Given the description of an element on the screen output the (x, y) to click on. 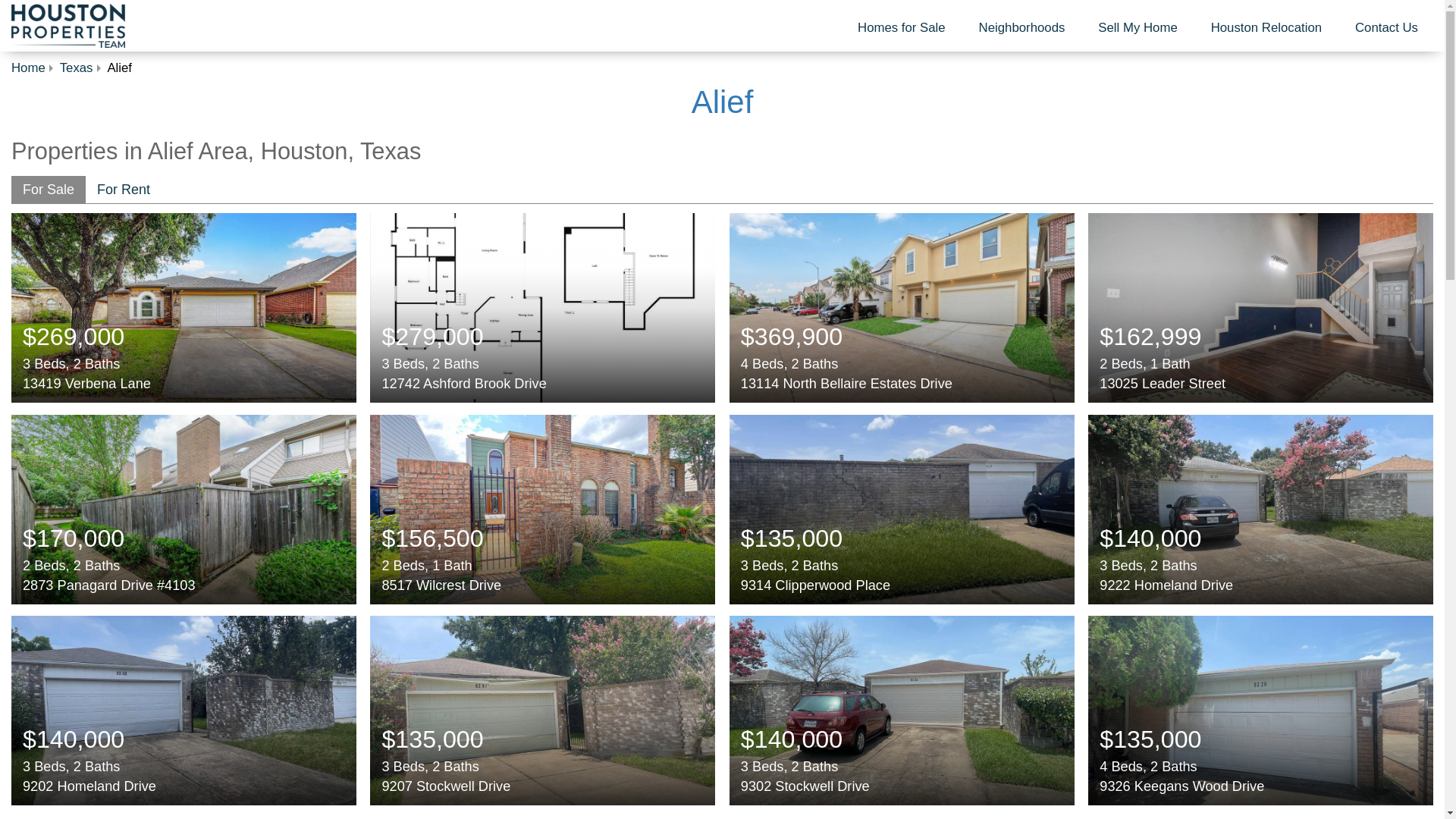
Neighborhoods (1021, 28)
For Sale (48, 189)
Houston Relocation (1265, 28)
Home (28, 67)
Texas (76, 67)
Contact Us (1385, 28)
Sell My Home (1137, 28)
Homes for Sale (901, 28)
For Rent (123, 189)
Alief (722, 101)
